Given the description of an element on the screen output the (x, y) to click on. 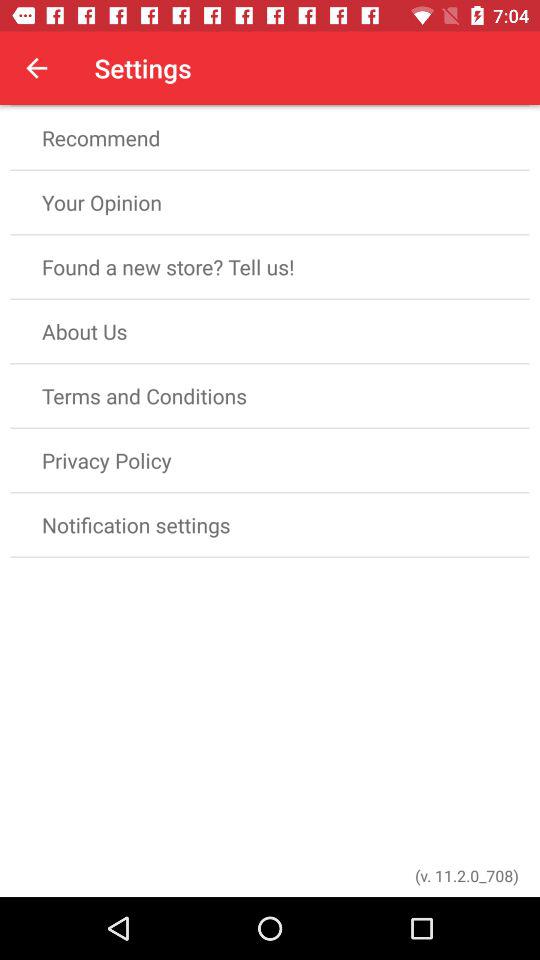
jump until the recommend icon (269, 137)
